Given the description of an element on the screen output the (x, y) to click on. 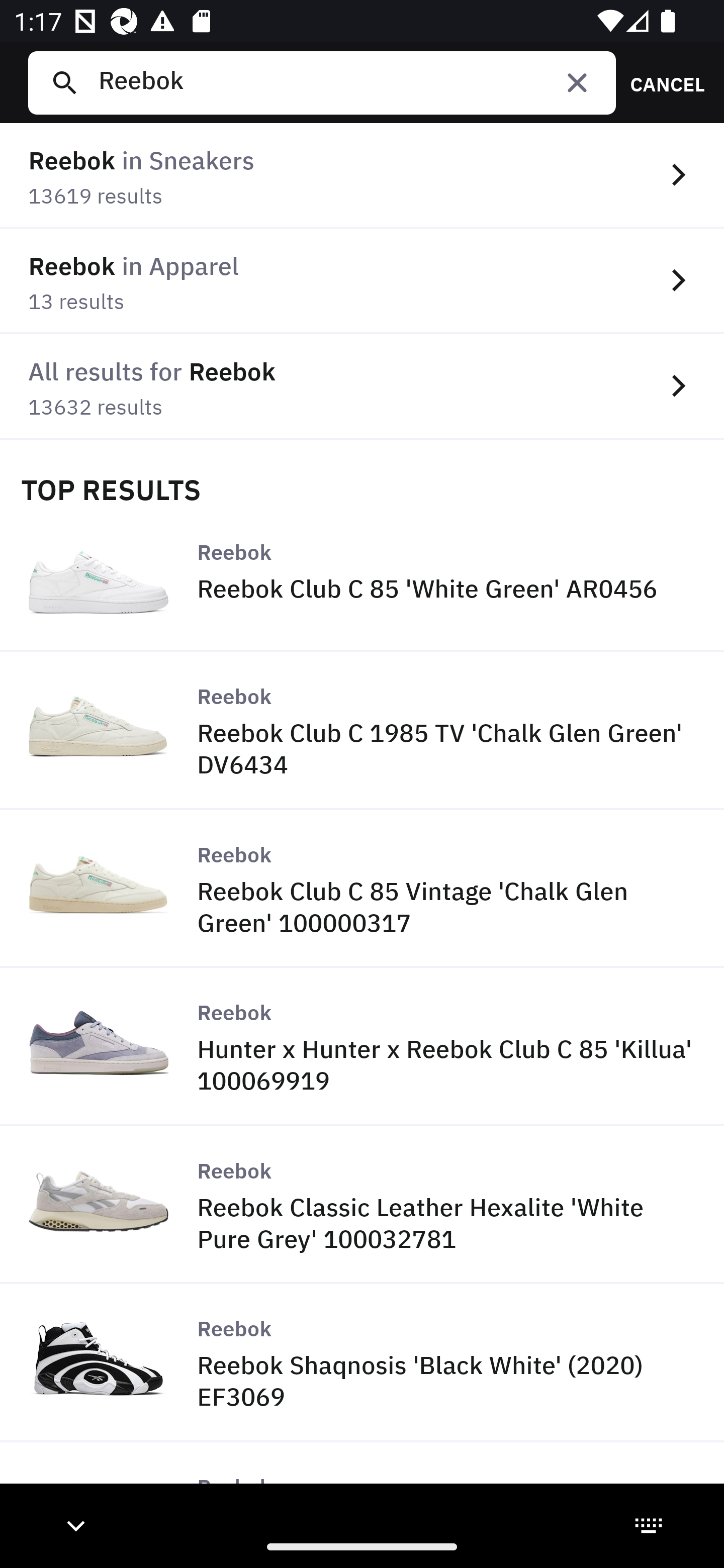
CANCEL (660, 82)
Reebok (349, 82)
 (577, 82)
Reebok  in Sneakers 13619 results  (362, 175)
Reebok  in Apparel 13 results  (362, 280)
All results for  Reebok 13632 results  (362, 386)
Reebok Reebok Club C 85 'White Green' AR0456 (362, 580)
